Given the description of an element on the screen output the (x, y) to click on. 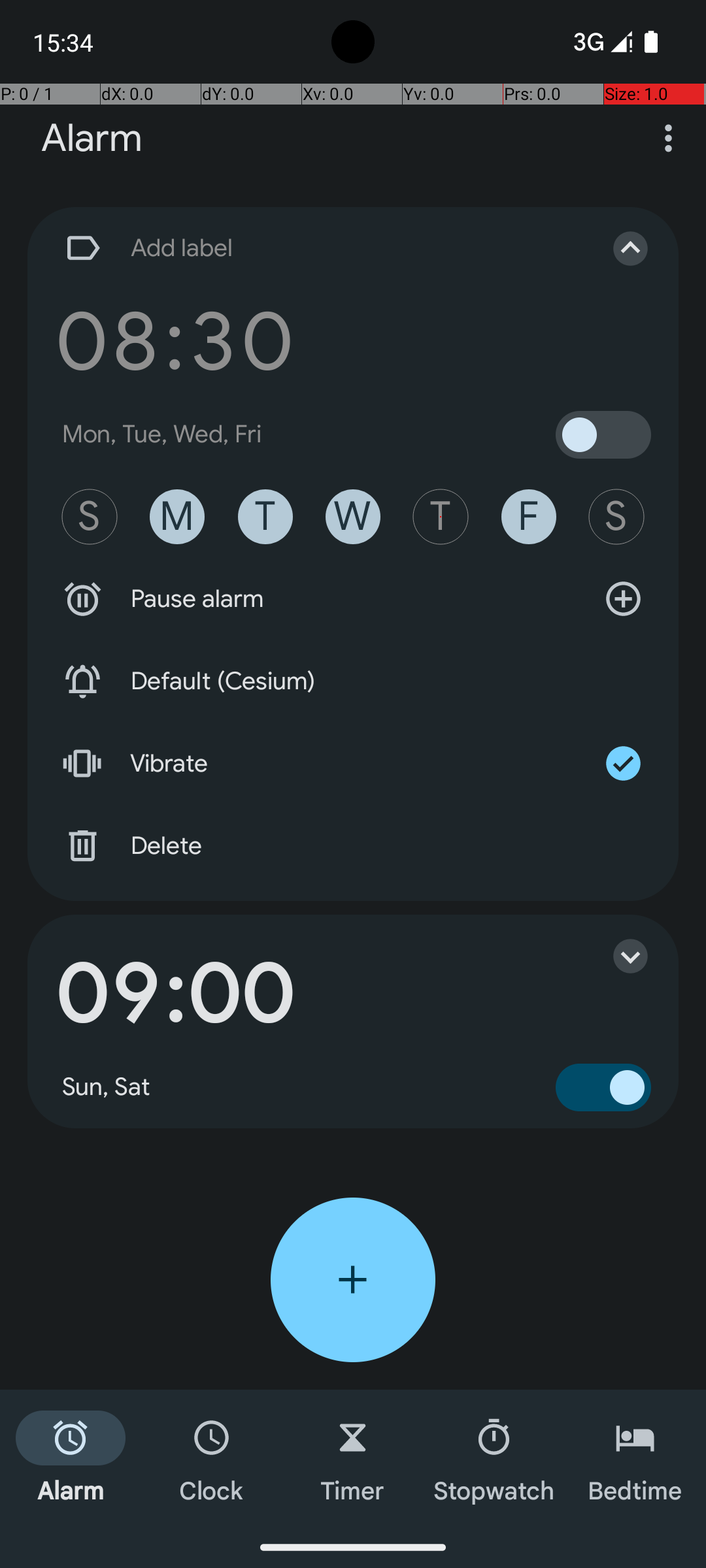
Add alarm Element type: android.widget.Button (352, 1279)
Add label Element type: android.widget.TextView (318, 248)
Collapse alarm Element type: android.widget.ImageButton (616, 248)
08:30 Element type: android.widget.TextView (174, 341)
Mon, Tue, Wed, Fri Element type: android.widget.TextView (161, 433)
S Element type: android.widget.CheckBox (89, 516)
M Element type: android.widget.CheckBox (176, 516)
T Element type: android.widget.CheckBox (265, 516)
W Element type: android.widget.CheckBox (352, 516)
F Element type: android.widget.CheckBox (528, 516)
Pause alarm Element type: android.widget.TextView (352, 598)
Default (Cesium) Element type: android.widget.TextView (352, 681)
Vibrate Element type: android.widget.CheckBox (352, 763)
09:00 Element type: android.widget.TextView (174, 993)
Expand alarm Element type: android.widget.ImageButton (616, 955)
Sun, Sat Element type: android.widget.TextView (106, 1086)
